Given the description of an element on the screen output the (x, y) to click on. 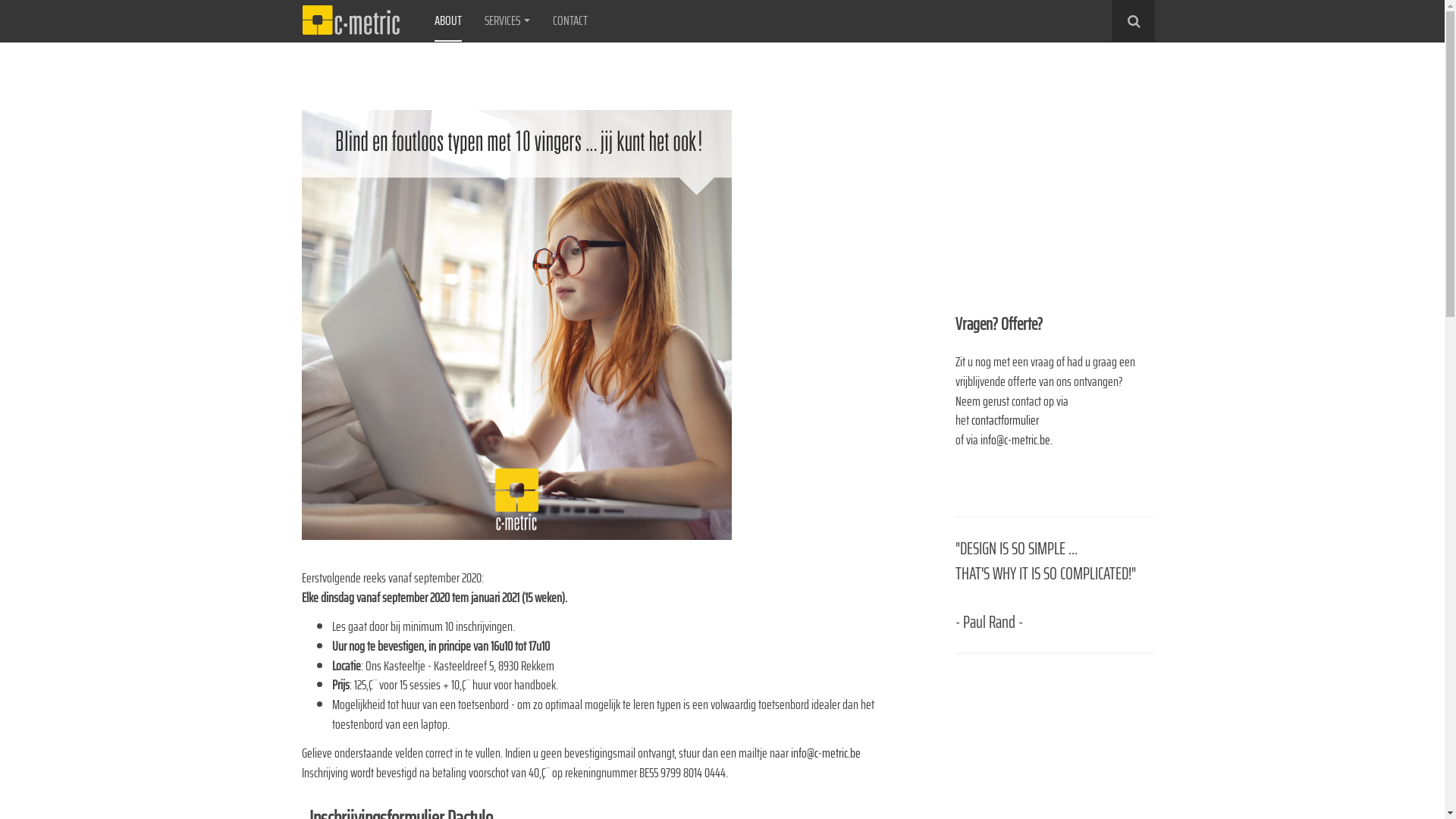
CONTACT Element type: text (569, 20)
SERVICES Element type: text (506, 20)
contactformulier  Element type: text (1006, 419)
info@c-metric.be Element type: text (824, 752)
info@c-metric.be. Element type: text (1016, 439)
ABOUT Element type: text (447, 20)
C-Metric Element type: hover (350, 20)
